Given the description of an element on the screen output the (x, y) to click on. 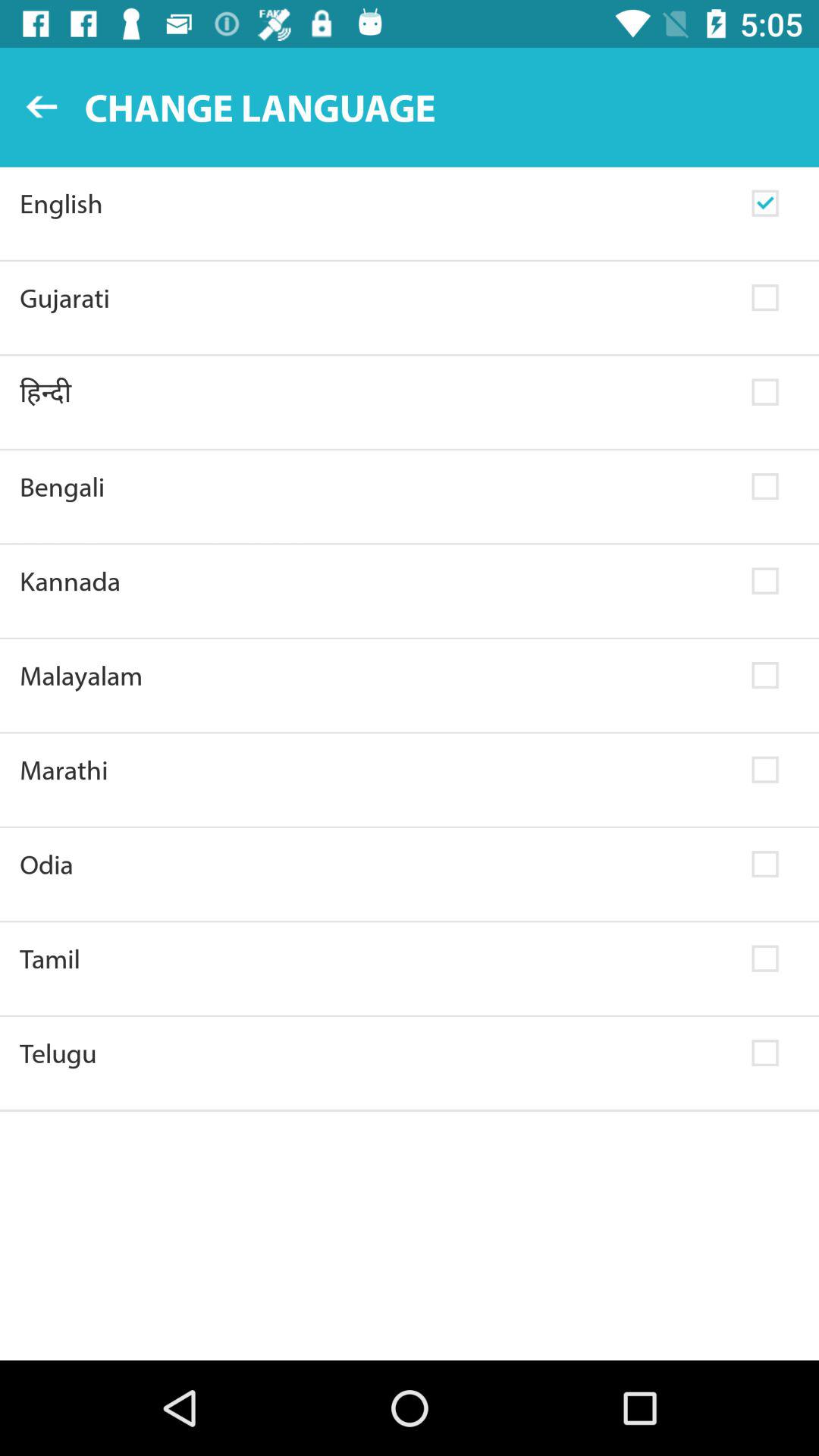
click the gujarati item (375, 297)
